Given the description of an element on the screen output the (x, y) to click on. 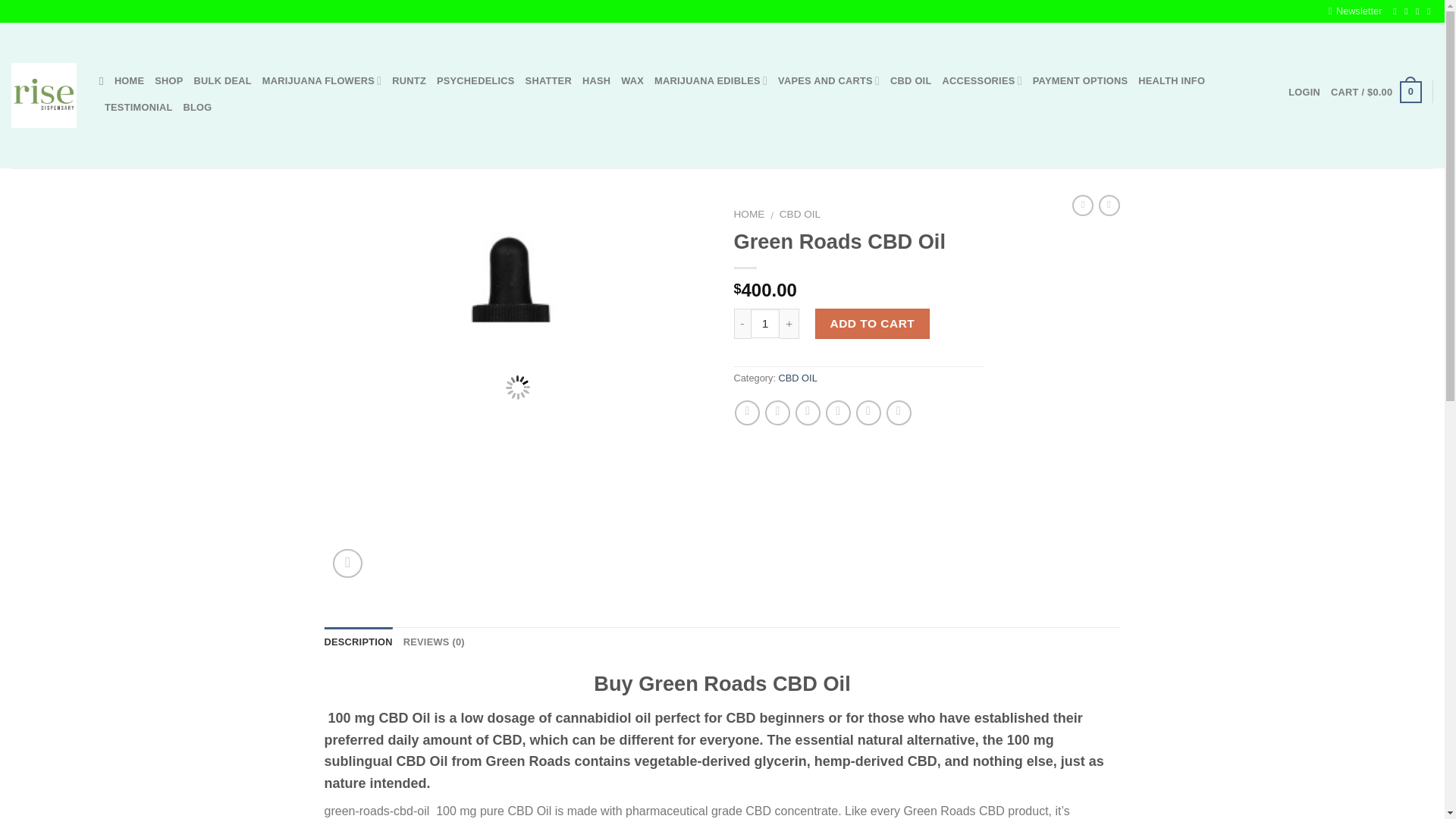
MARIJUANA EDIBLES (710, 80)
Cart (1375, 92)
WAX (632, 80)
SHOP (168, 80)
BULK DEAL (222, 80)
CBD OIL (910, 80)
RUNTZ (408, 80)
HOME (129, 80)
Newsletter (1354, 11)
